Given the description of an element on the screen output the (x, y) to click on. 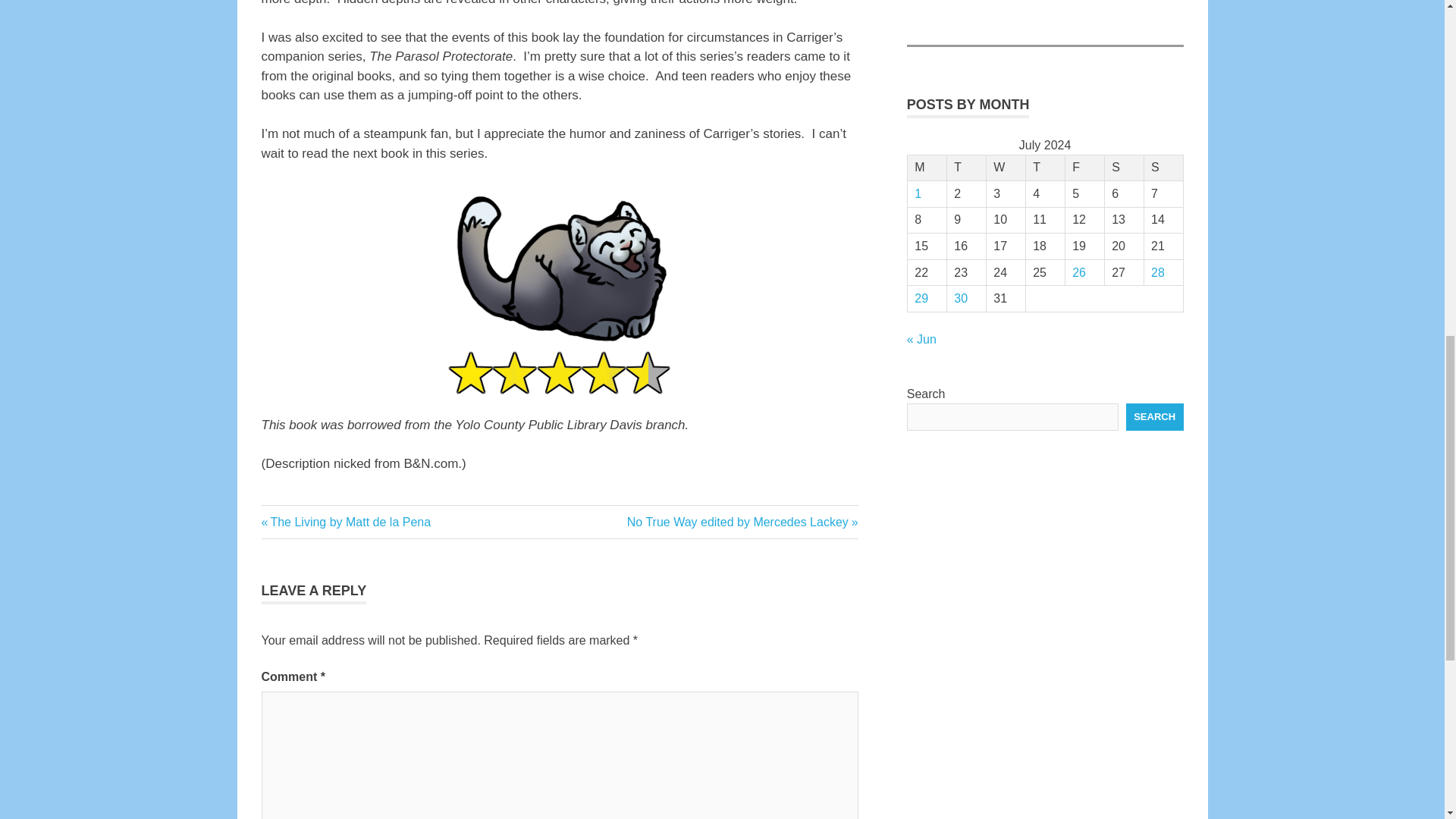
Thursday (1044, 167)
Friday (1083, 167)
Wednesday (1005, 167)
4.5 stars (277, 523)
Saturday (1122, 167)
Monday (345, 521)
Sunday (926, 167)
Tuesday (1162, 167)
